Given the description of an element on the screen output the (x, y) to click on. 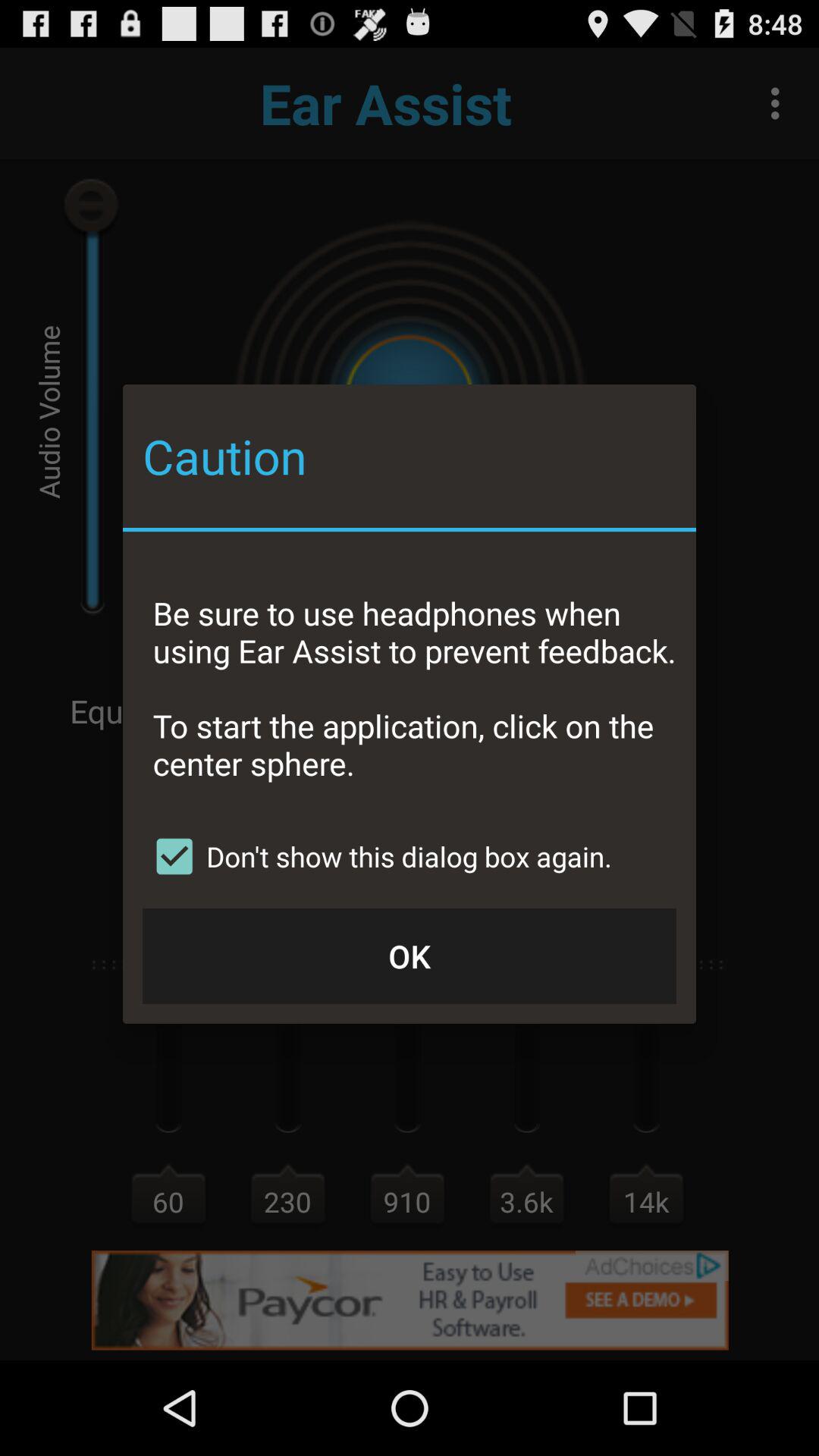
turn off the item above ok icon (376, 856)
